Given the description of an element on the screen output the (x, y) to click on. 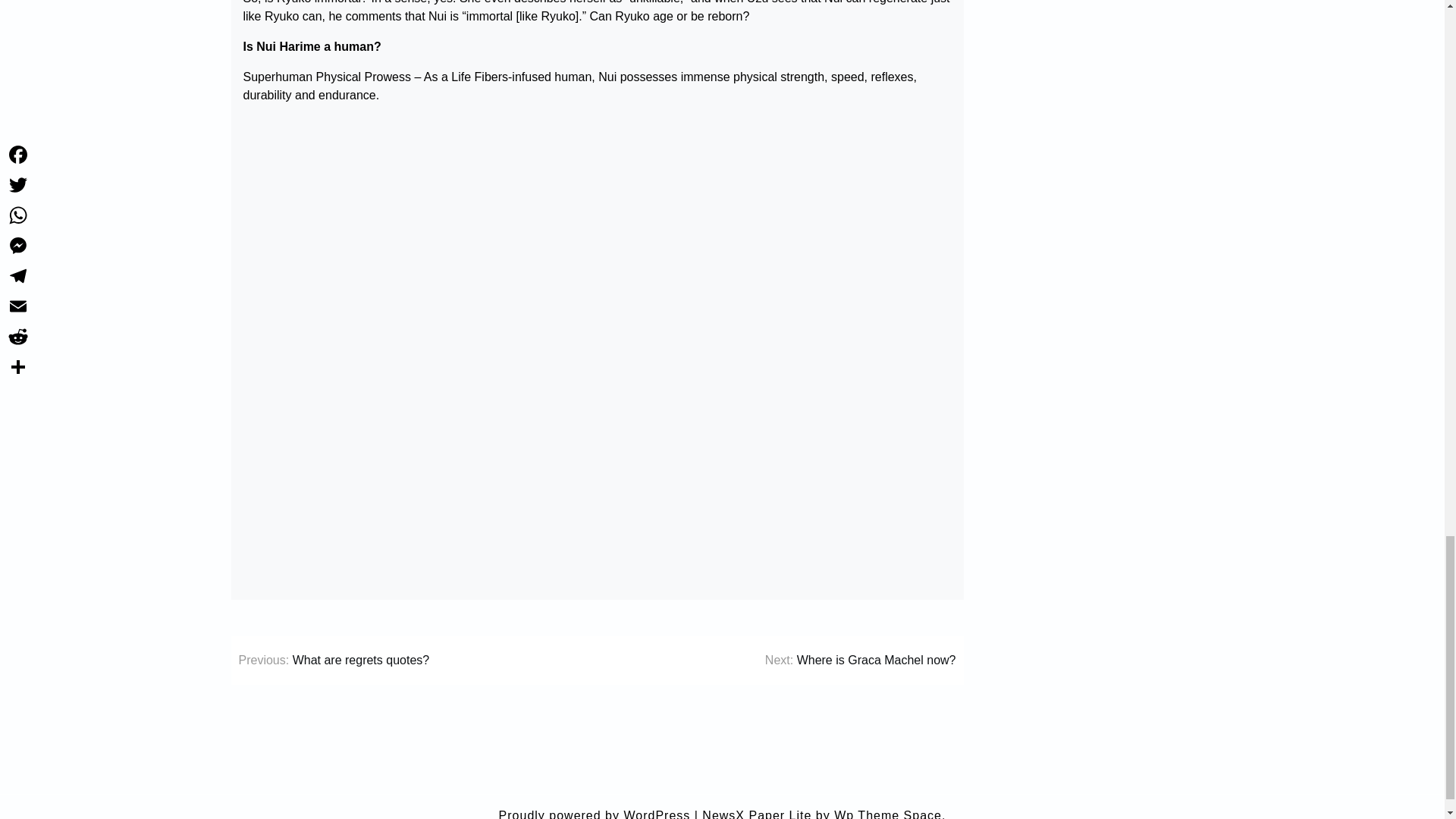
Previous: What are regrets quotes? (333, 660)
